Given the description of an element on the screen output the (x, y) to click on. 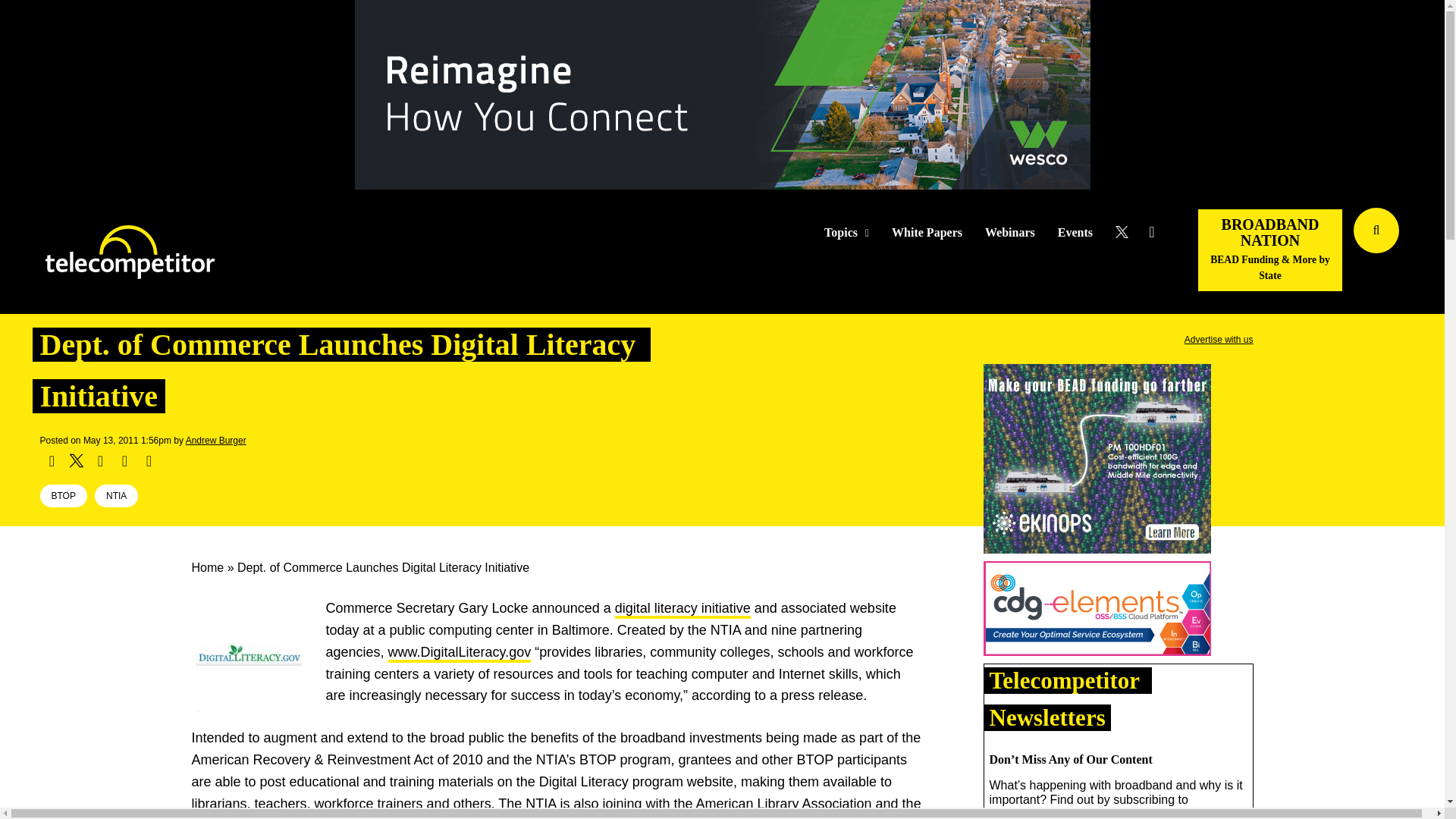
Follow Us on Twitter (1127, 232)
Topics (846, 232)
Events (1074, 232)
digitalliteracy (247, 654)
Share on Linked In (99, 460)
digital literacy initiative (682, 609)
Search (1430, 253)
Webinars (1010, 232)
Share on Facebook (51, 460)
Pinterest (124, 460)
